Given the description of an element on the screen output the (x, y) to click on. 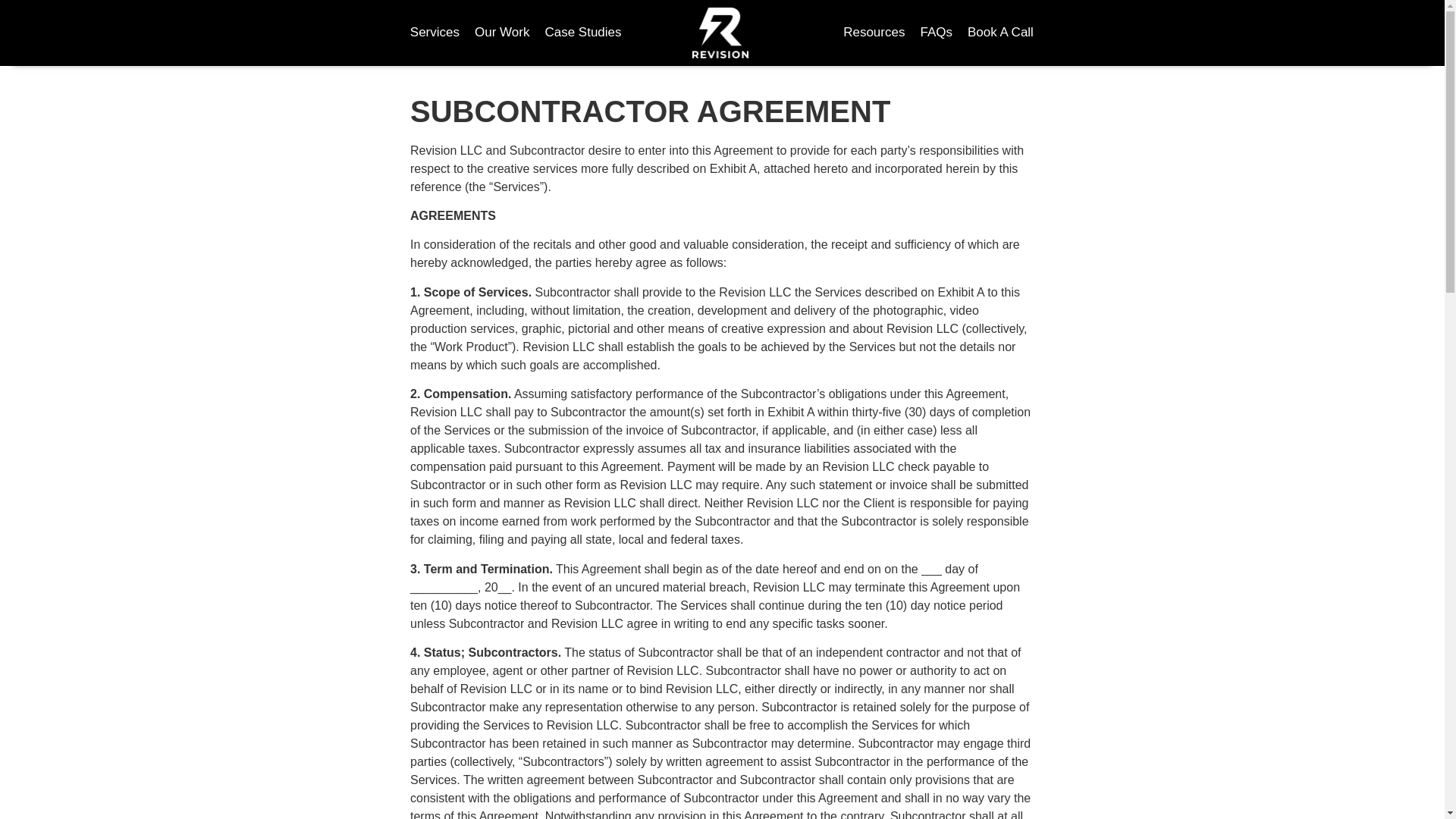
Our Work (502, 32)
Case Studies (582, 32)
Resources (873, 32)
Services (435, 32)
